Given the description of an element on the screen output the (x, y) to click on. 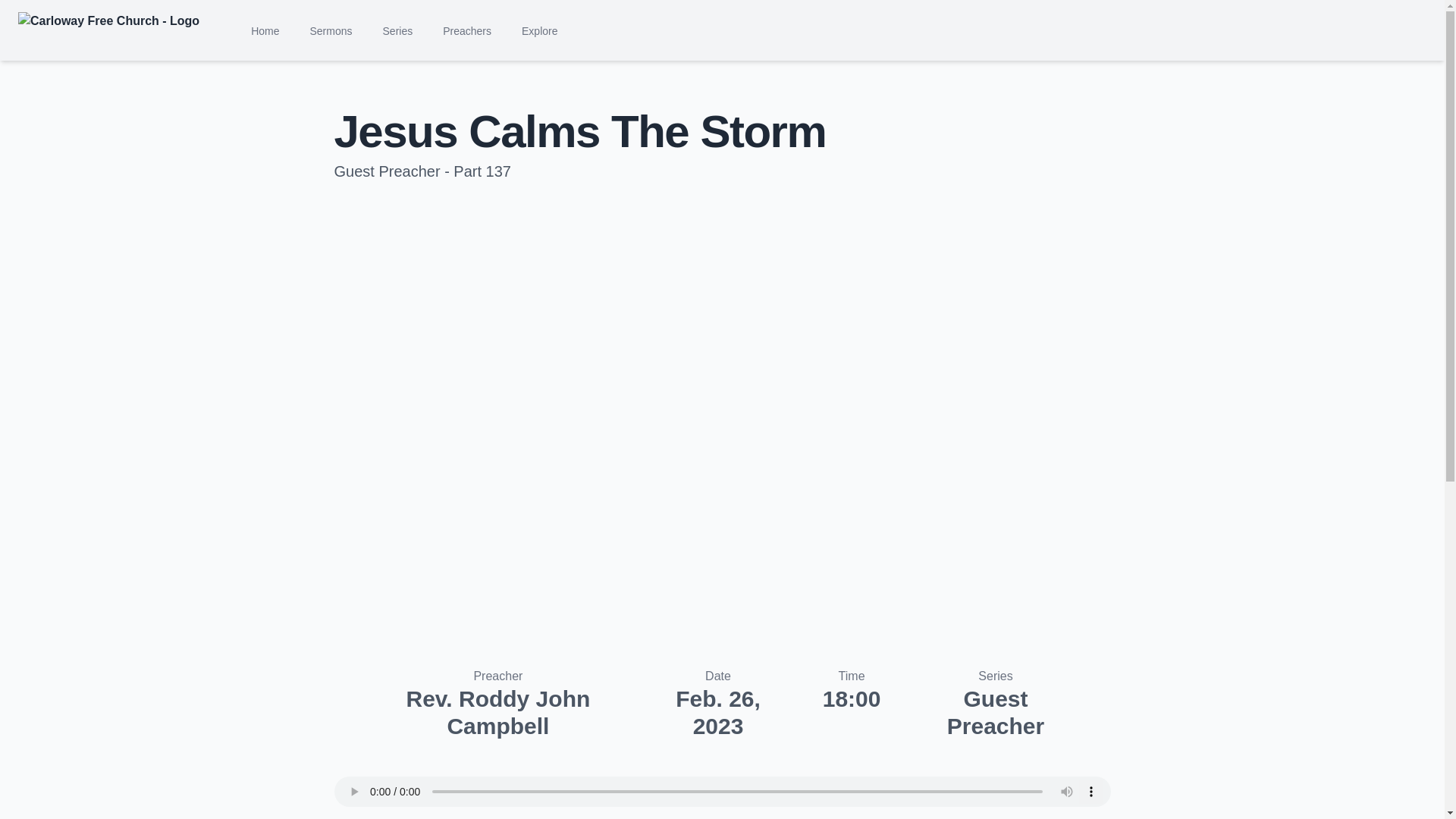
Preachers (467, 30)
Guest Preacher (995, 712)
Rev. Roddy John Campbell (497, 712)
